Given the description of an element on the screen output the (x, y) to click on. 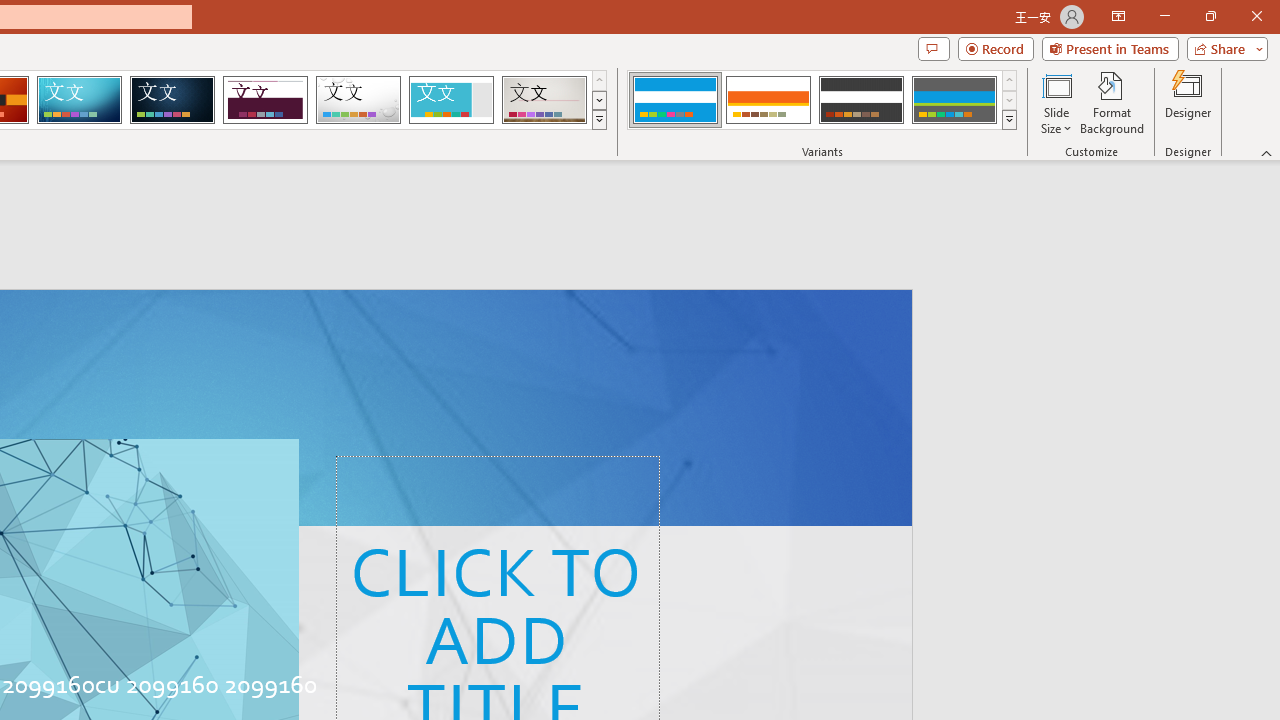
Banded Variant 3 (861, 100)
Circuit (79, 100)
Format Background (1111, 102)
Frame (450, 100)
Gallery (544, 100)
Damask (171, 100)
Droplet (358, 100)
Themes (598, 120)
Banded Variant 1 (674, 100)
